Given the description of an element on the screen output the (x, y) to click on. 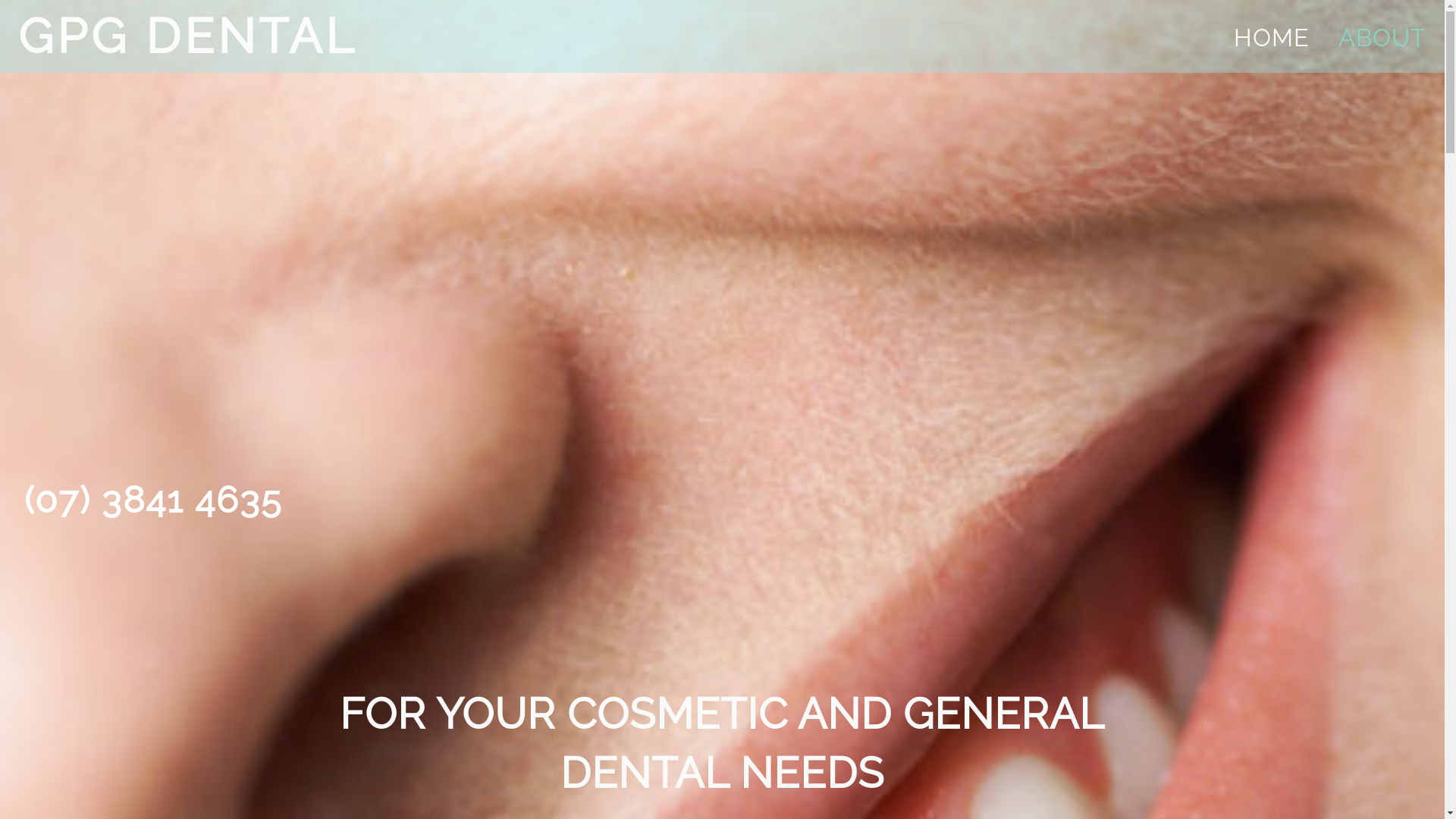
HOME Element type: text (1270, 37)
ABOUT Element type: text (1382, 37)
GPG DENTAL Element type: text (187, 35)
